Given the description of an element on the screen output the (x, y) to click on. 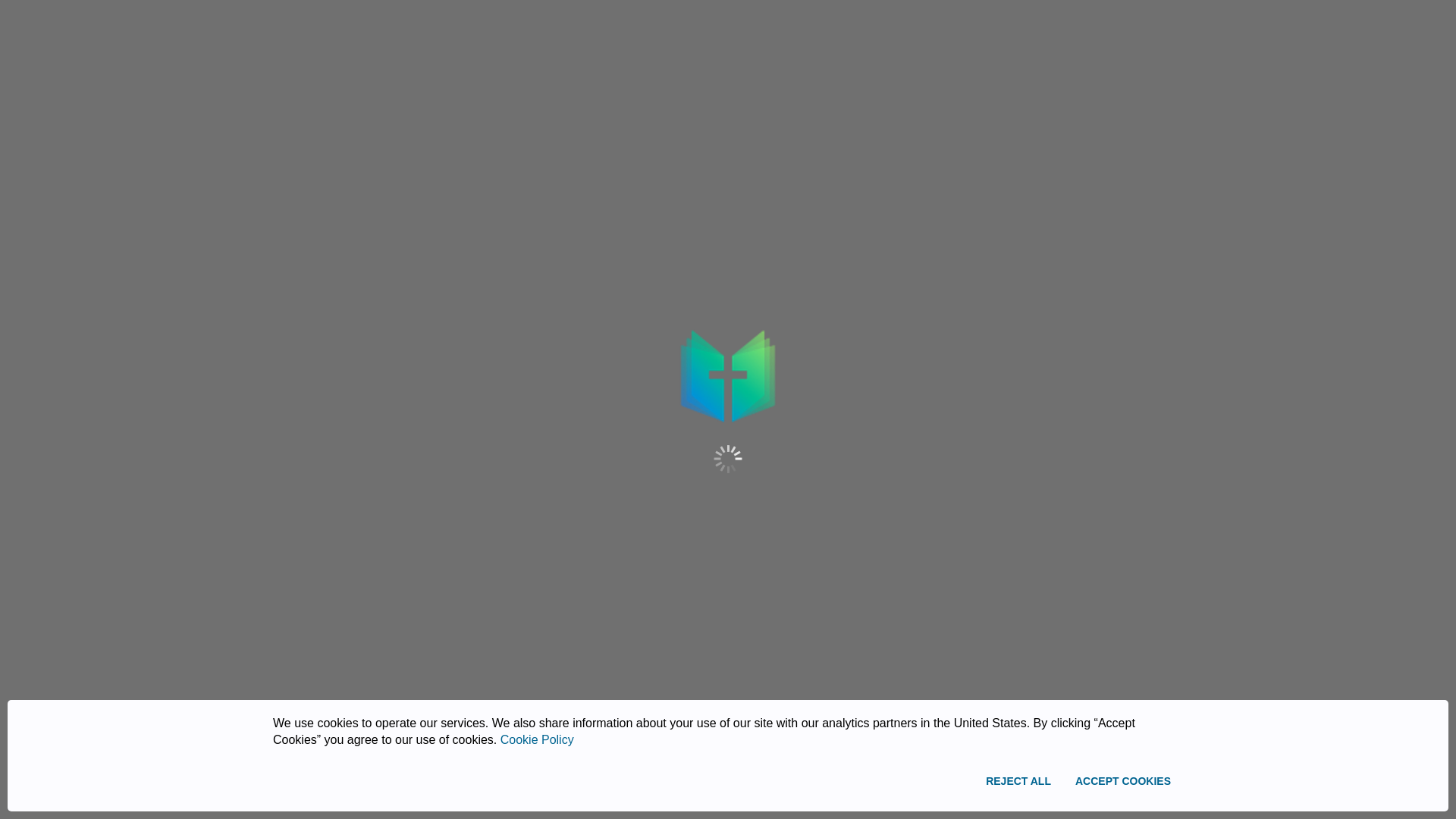
REJECT ALL (1018, 781)
ACCEPT COOKIES (1122, 781)
Cookie Policy (536, 739)
